Given the description of an element on the screen output the (x, y) to click on. 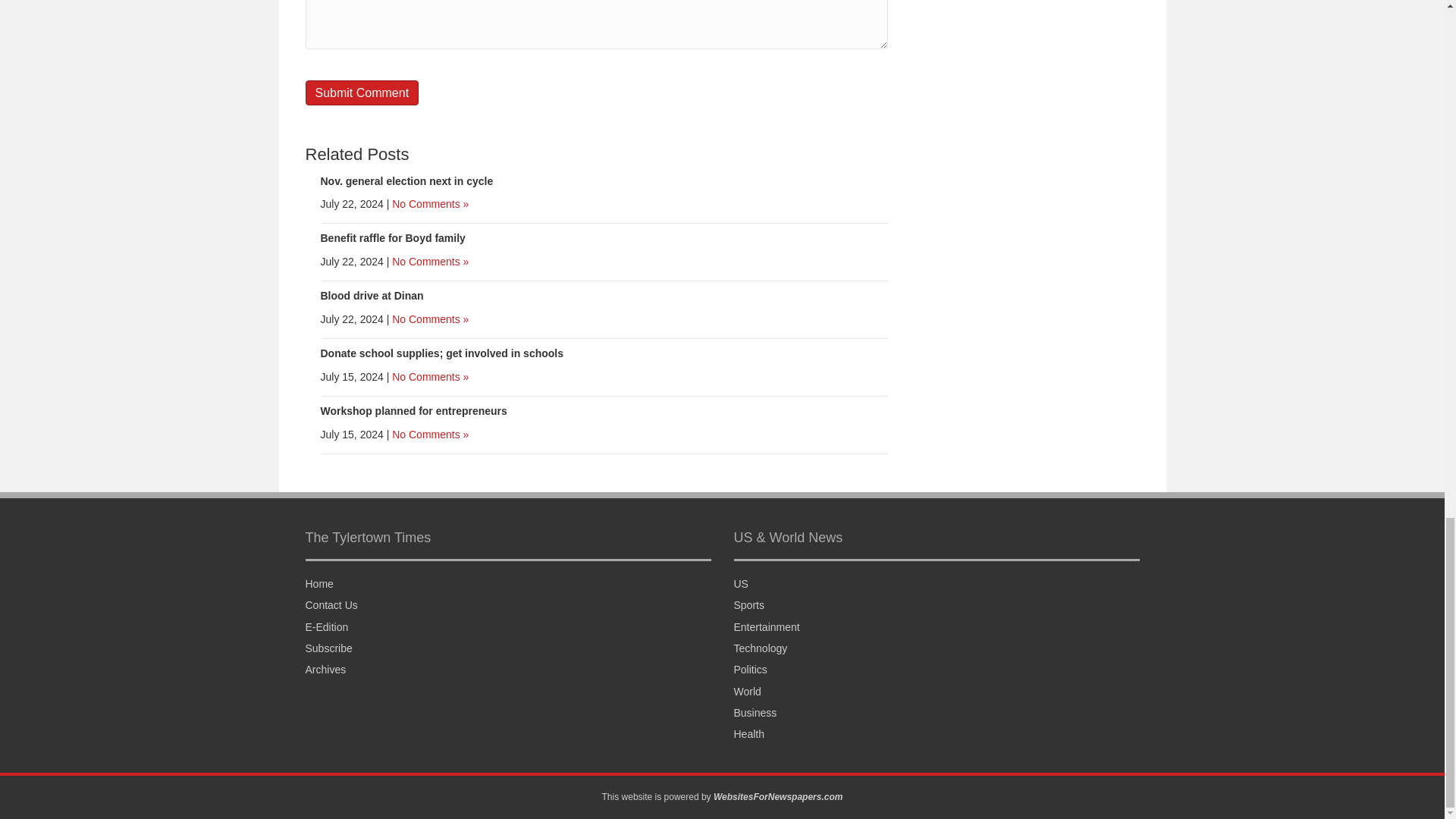
Submit Comment (361, 92)
Benefit raffle for Boyd family (392, 237)
Nov. general election next in cycle (406, 180)
Blood drive at Dinan (371, 295)
Donate school supplies; get involved in schools (441, 353)
Workshop planned for entrepreneurs (413, 410)
